Given the description of an element on the screen output the (x, y) to click on. 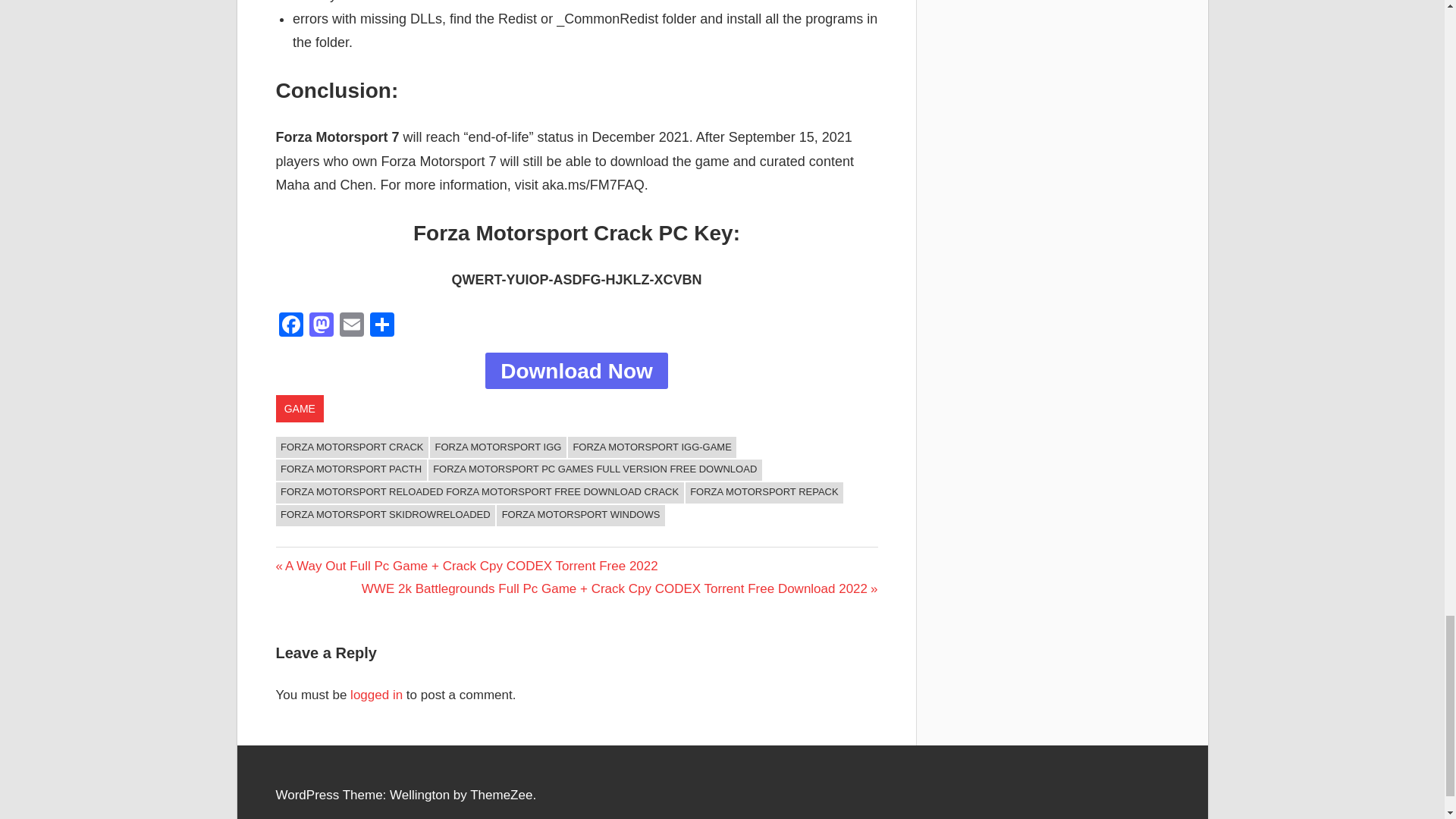
FORZA MOTORSPORT WINDOWS (580, 515)
Mastodon (320, 326)
GAME (300, 408)
FORZA MOTORSPORT PC GAMES FULL VERSION FREE DOWNLOAD (594, 469)
FORZA MOTORSPORT SKIDROWRELOADED (386, 515)
Facebook (290, 326)
Email (351, 326)
logged in (376, 694)
FORZA MOTORSPORT CRACK (352, 446)
FORZA MOTORSPORT IGG (497, 446)
